Given the description of an element on the screen output the (x, y) to click on. 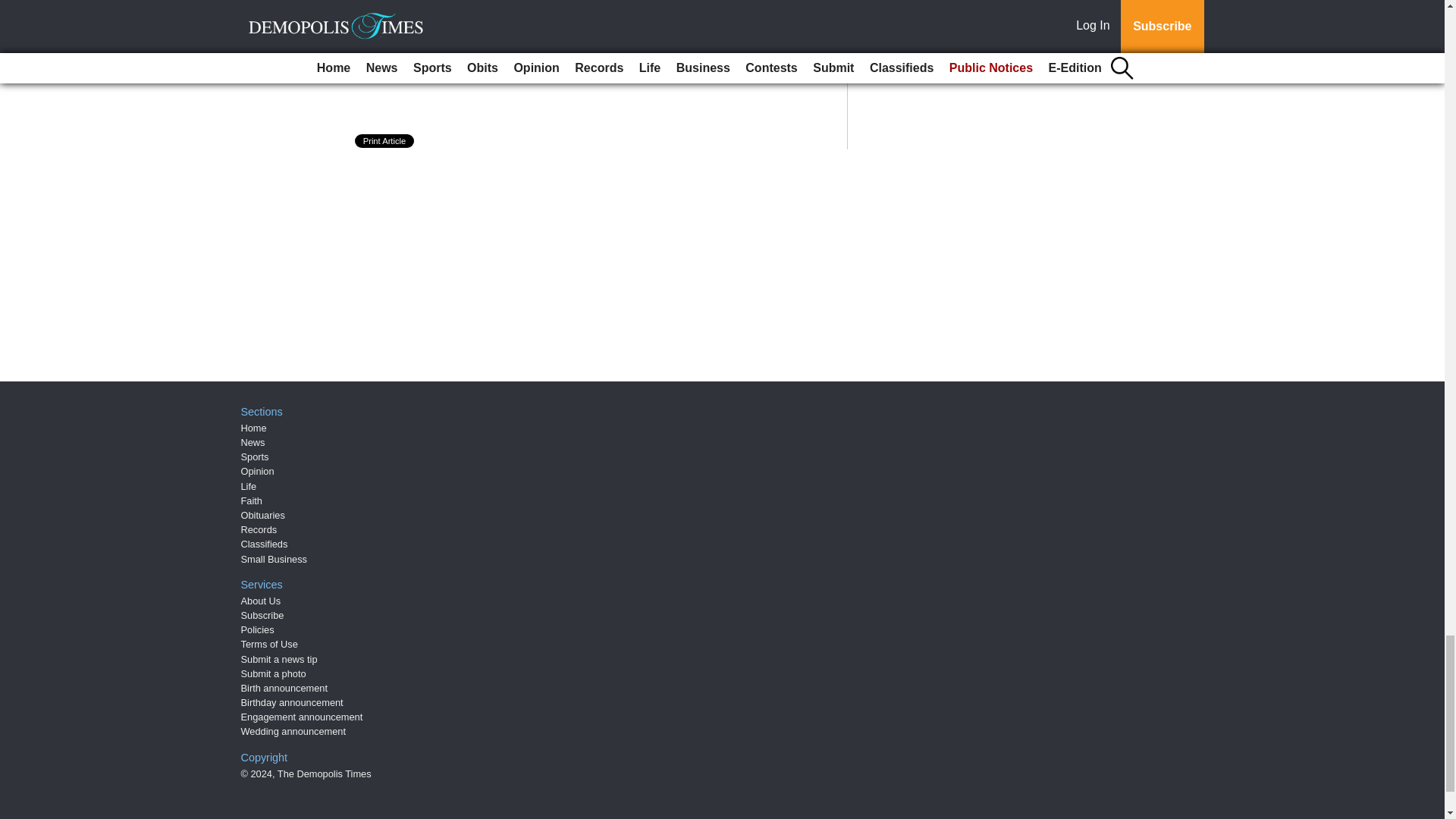
Print Article (384, 141)
Gary Andrew Etheridge  (464, 13)
